Given the description of an element on the screen output the (x, y) to click on. 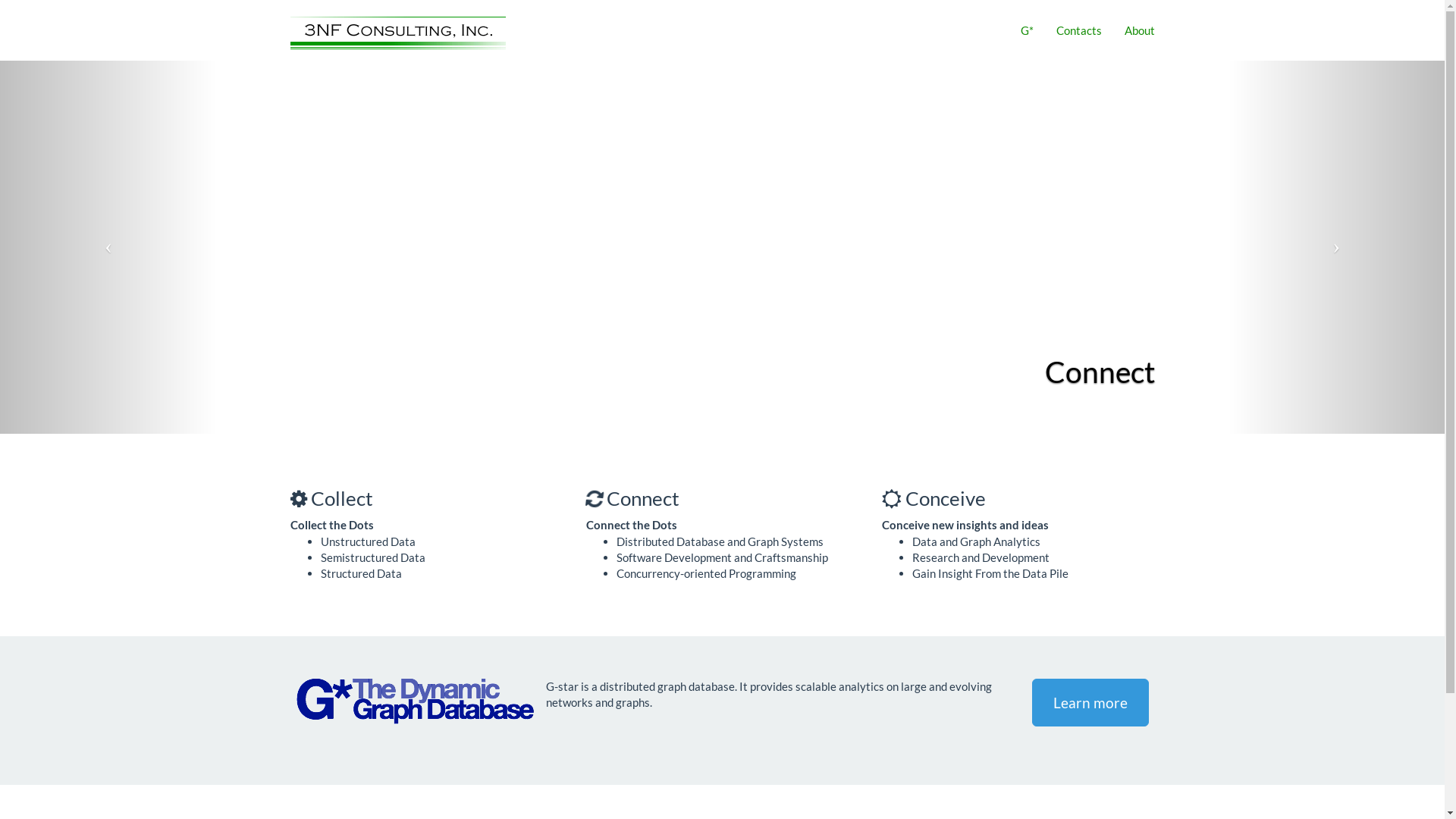
Contacts Element type: text (1078, 30)
G* Element type: text (1026, 30)
About Element type: text (1139, 30)
Learn more Element type: text (1089, 702)
